Given the description of an element on the screen output the (x, y) to click on. 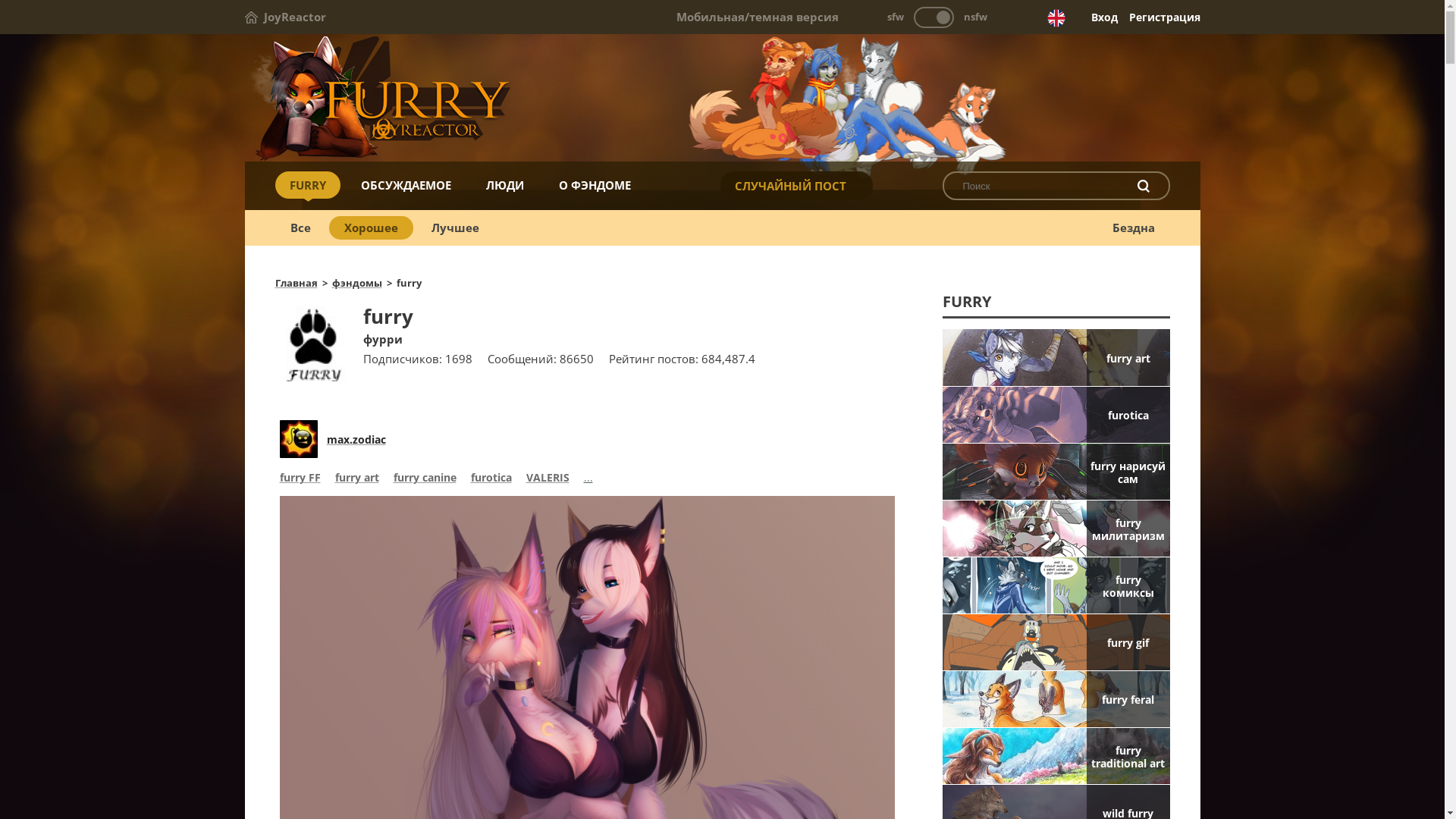
furry canine Element type: text (423, 479)
furry gif Element type: text (1055, 642)
furotica Element type: text (1055, 414)
furry art Element type: text (357, 479)
furry Element type: text (721, 98)
FURRY Element type: text (306, 184)
furry feral Element type: text (1055, 699)
furry FF Element type: text (299, 479)
max.zodiac Element type: text (355, 439)
furry traditional art Element type: text (1055, 756)
furry art Element type: text (1055, 357)
JoyReactor Element type: text (284, 17)
English version Element type: hover (1055, 18)
VALERIS Element type: text (547, 479)
furotica Element type: text (490, 479)
